Given the description of an element on the screen output the (x, y) to click on. 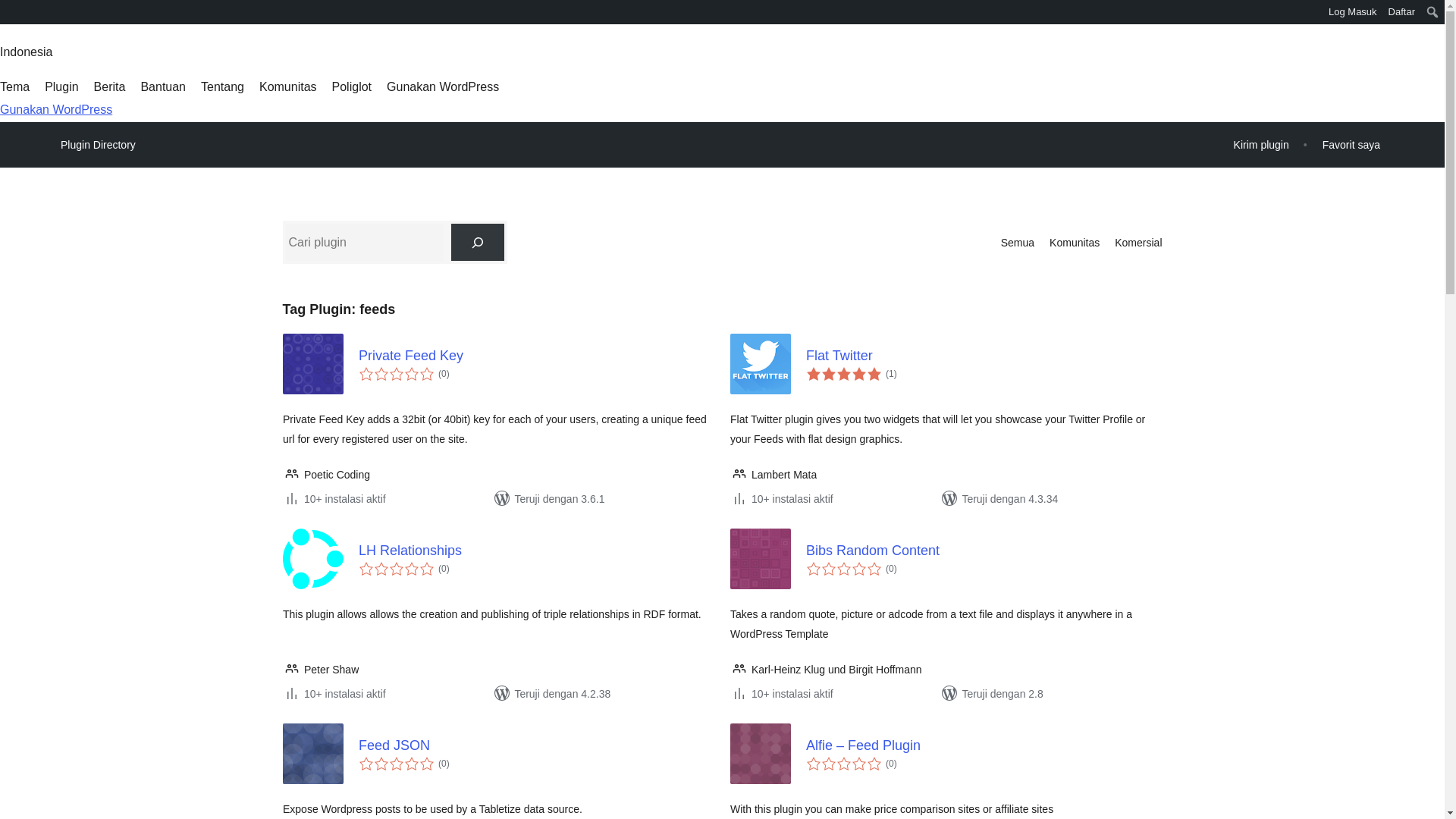
Berita (109, 87)
Semua (1017, 242)
Gunakan WordPress (443, 87)
Bantuan (162, 87)
LH Relationships (536, 550)
Komunitas (1074, 242)
Tentang (222, 87)
Private Feed Key (536, 355)
Daftar (1402, 12)
Flat Twitter (983, 355)
